Given the description of an element on the screen output the (x, y) to click on. 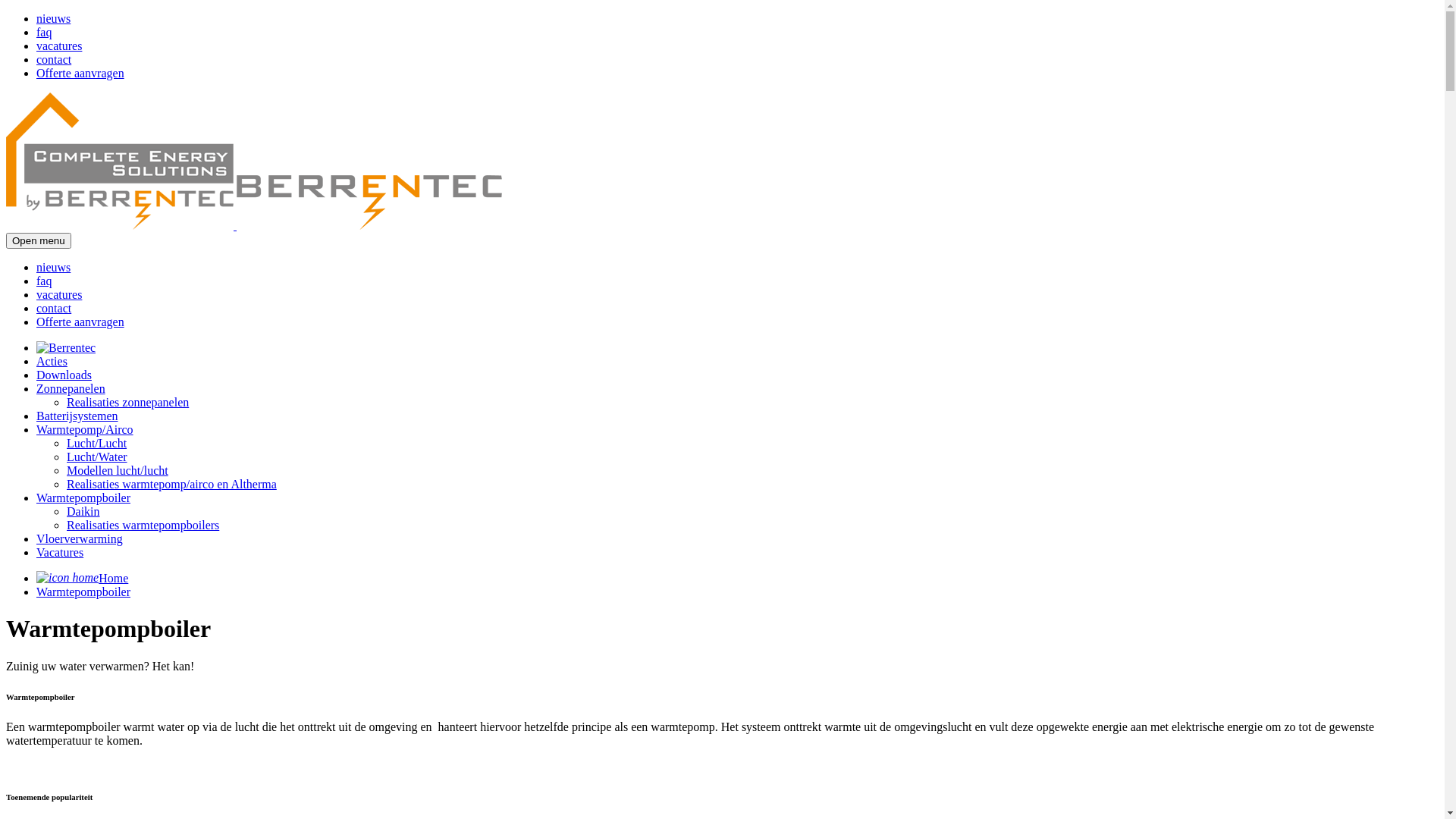
Downloads Element type: text (63, 374)
Lucht/Lucht Element type: text (96, 442)
Daikin Element type: text (83, 511)
nieuws Element type: text (53, 266)
vacatures Element type: text (58, 294)
Vloerverwarming Element type: text (79, 538)
Open menu Element type: text (38, 240)
contact Element type: text (53, 307)
Home Element type: text (82, 577)
Realisaties zonnepanelen Element type: text (127, 401)
Realisaties warmtepompboilers Element type: text (142, 524)
Acties Element type: text (51, 360)
faq Element type: text (43, 31)
Lucht/Water Element type: text (96, 456)
Realisaties warmtepomp/airco en Altherma Element type: text (171, 483)
Warmtepompboiler Element type: text (83, 497)
vacatures Element type: text (58, 45)
Warmtepomp/Airco Element type: text (84, 429)
Zonnepanelen Element type: text (70, 388)
Batterijsystemen Element type: text (77, 415)
faq Element type: text (43, 280)
Offerte aanvragen Element type: text (80, 321)
nieuws Element type: text (53, 18)
Offerte aanvragen Element type: text (80, 72)
Modellen lucht/lucht Element type: text (117, 470)
Vacatures Element type: text (59, 552)
contact Element type: text (53, 59)
Warmtepompboiler Element type: text (83, 591)
